Given the description of an element on the screen output the (x, y) to click on. 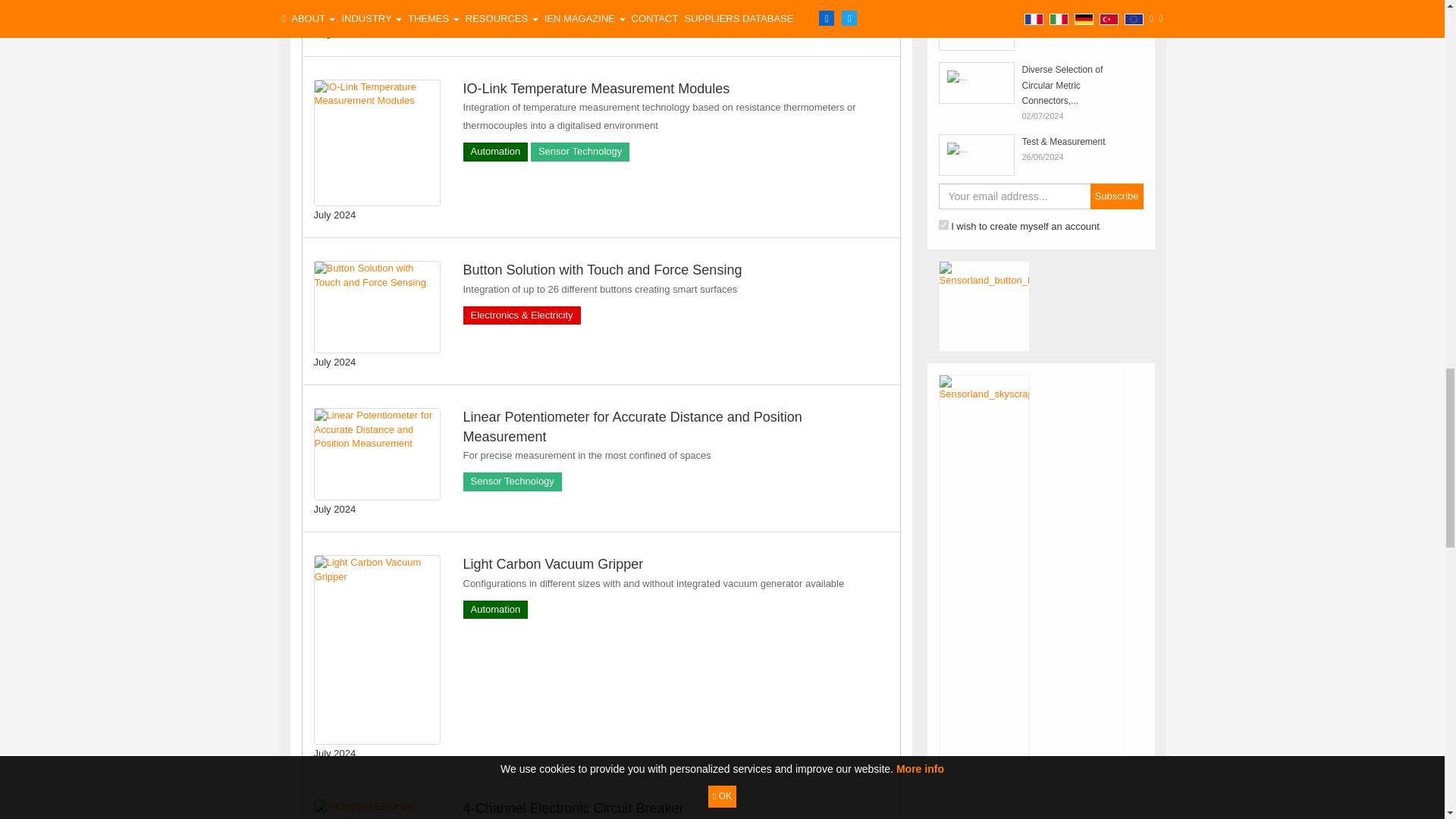
on (944, 225)
